Given the description of an element on the screen output the (x, y) to click on. 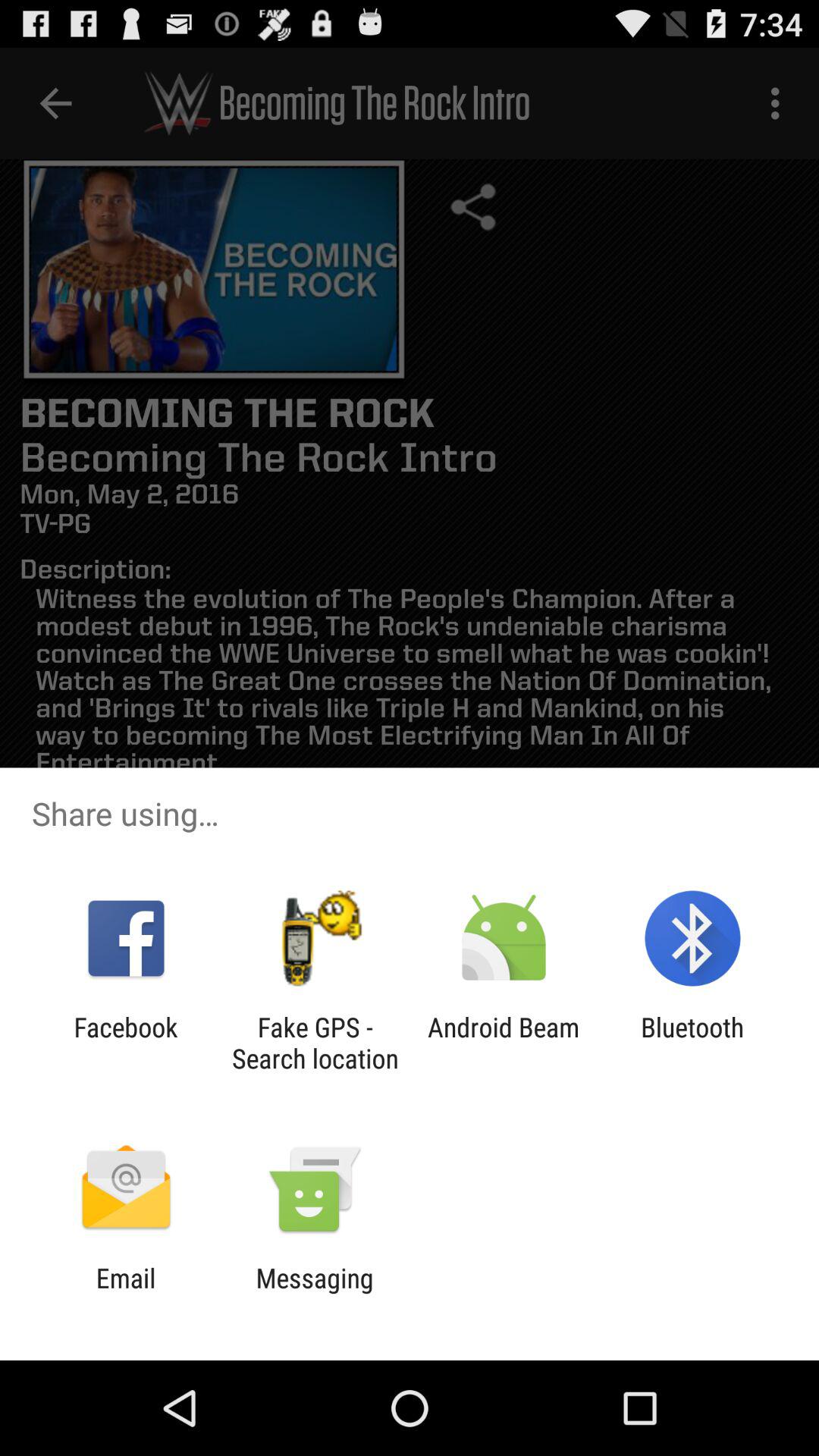
click icon next to the email item (314, 1293)
